Given the description of an element on the screen output the (x, y) to click on. 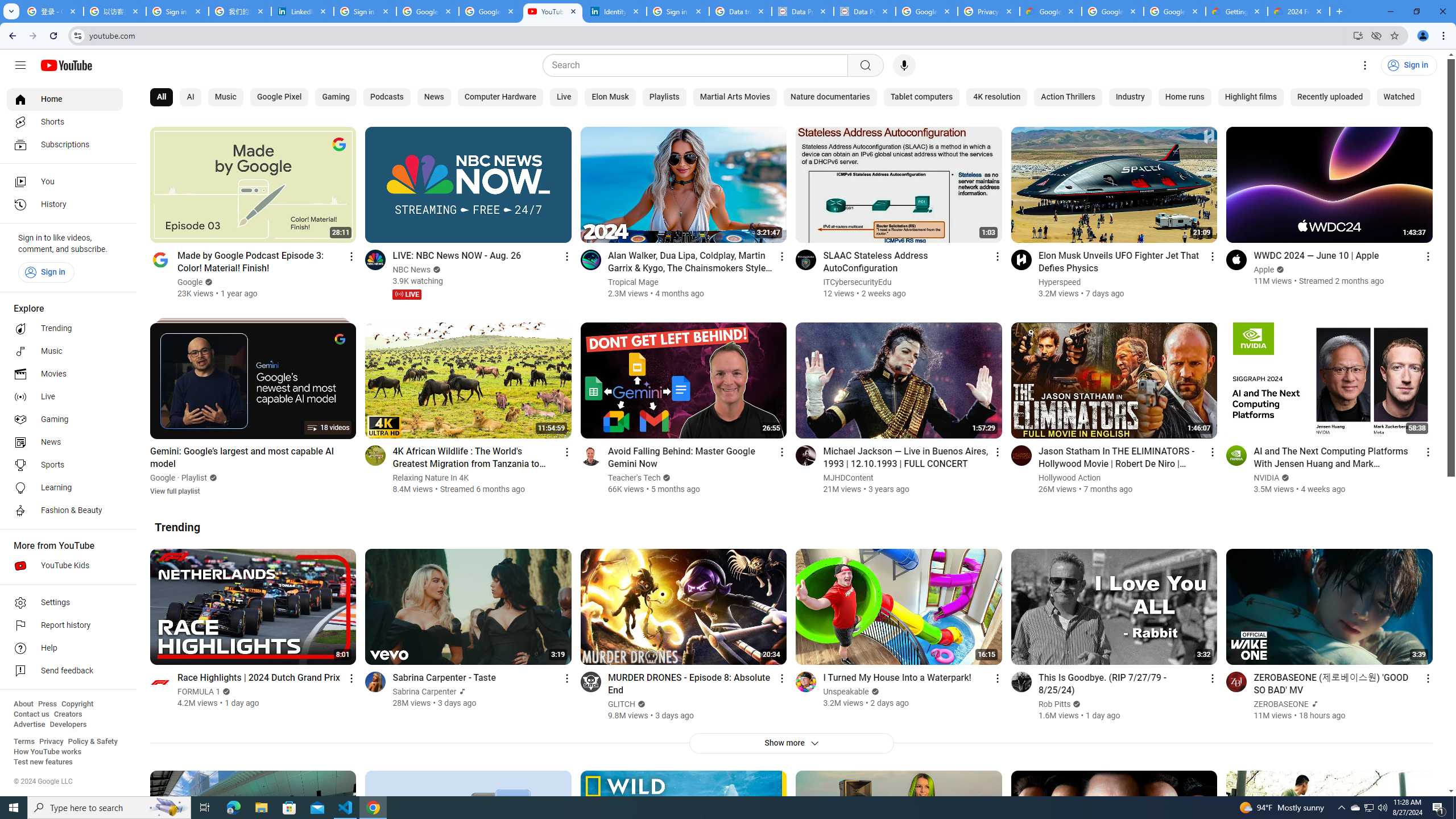
Highlight films (1250, 97)
Sports (64, 464)
Contact us (31, 714)
Learning (64, 487)
GLITCH (621, 704)
Gaming (335, 97)
Watched (1398, 97)
Playlist (194, 477)
Send feedback (64, 671)
Playlists (663, 97)
Podcasts (387, 97)
